Given the description of an element on the screen output the (x, y) to click on. 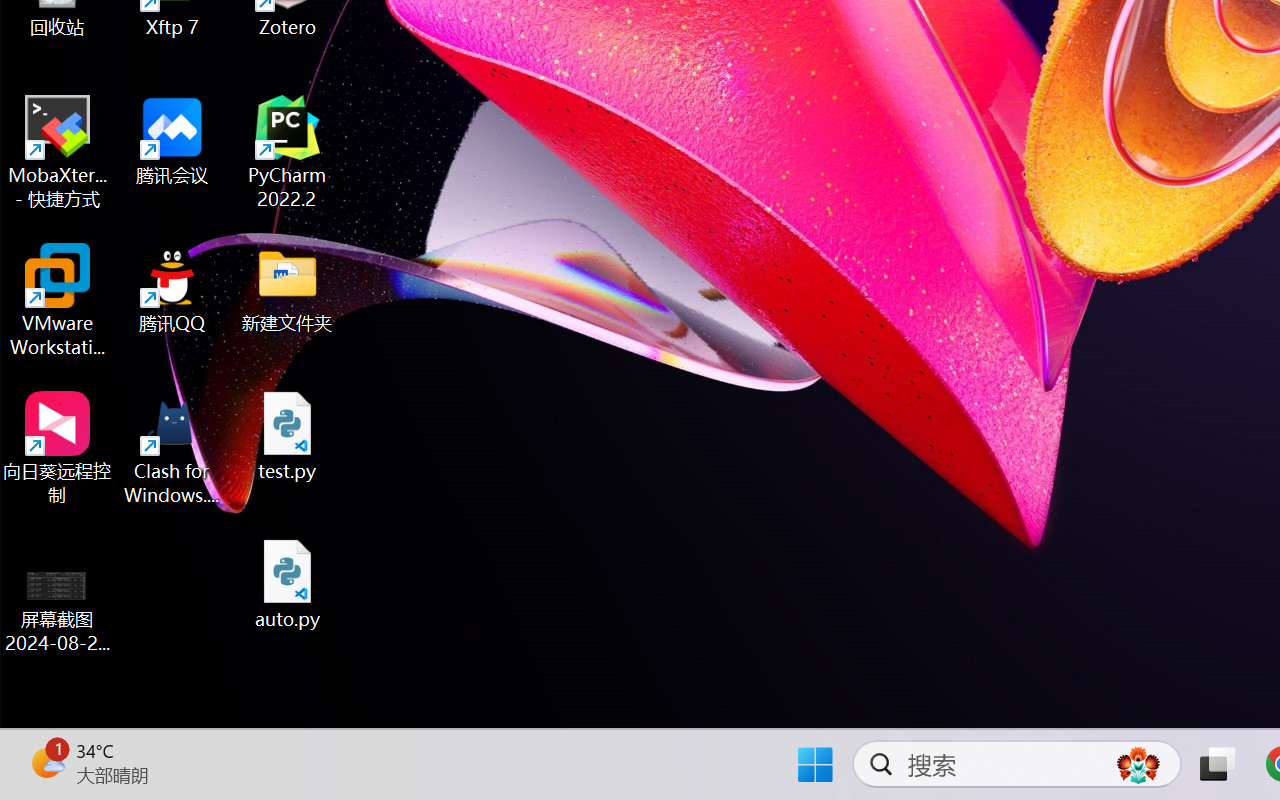
auto.py (287, 584)
test.py (287, 436)
PyCharm 2022.2 (287, 152)
